Given the description of an element on the screen output the (x, y) to click on. 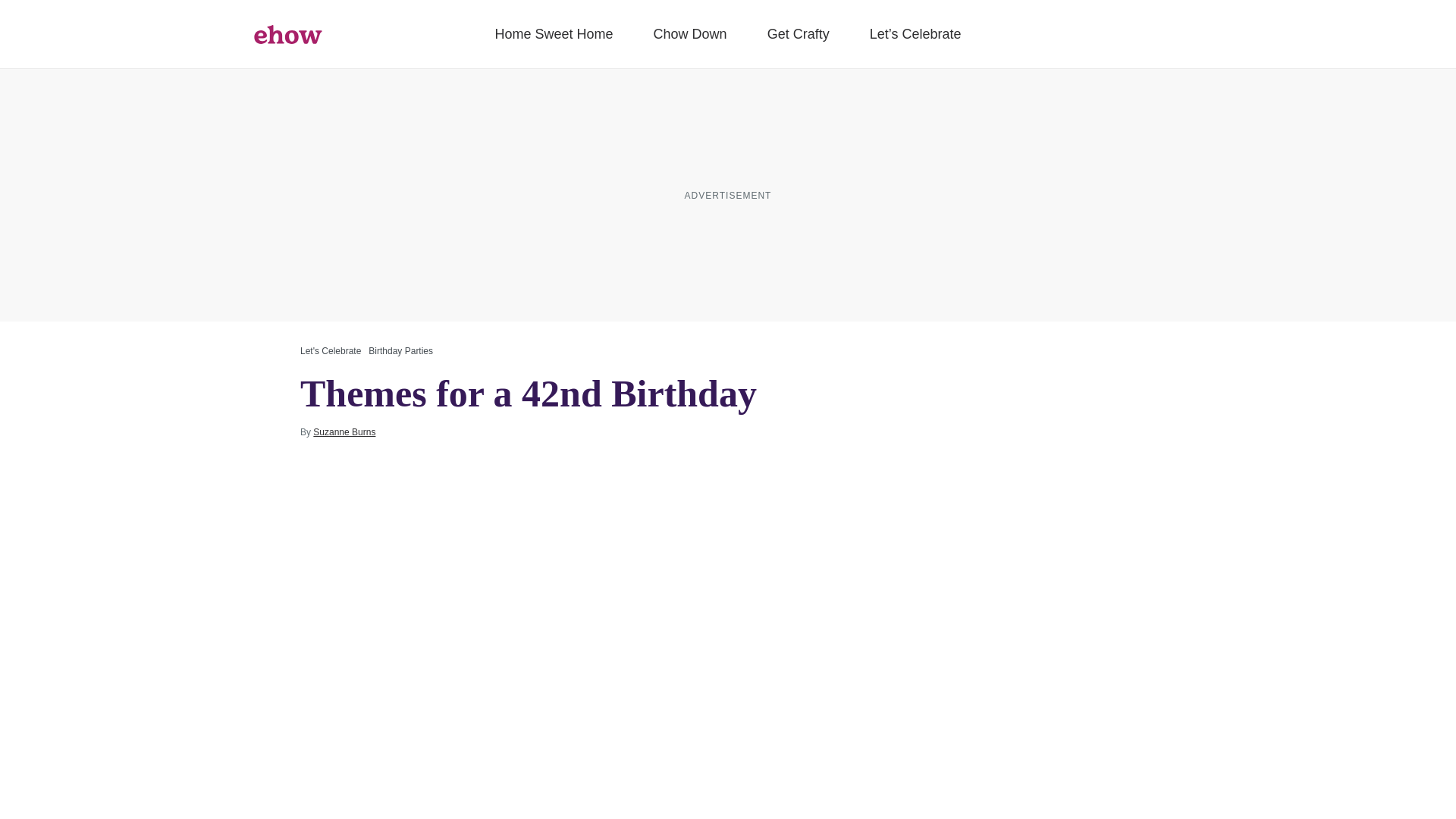
Birthday Parties (400, 350)
Suzanne Burns (344, 431)
Let's Celebrate (330, 350)
